Given the description of an element on the screen output the (x, y) to click on. 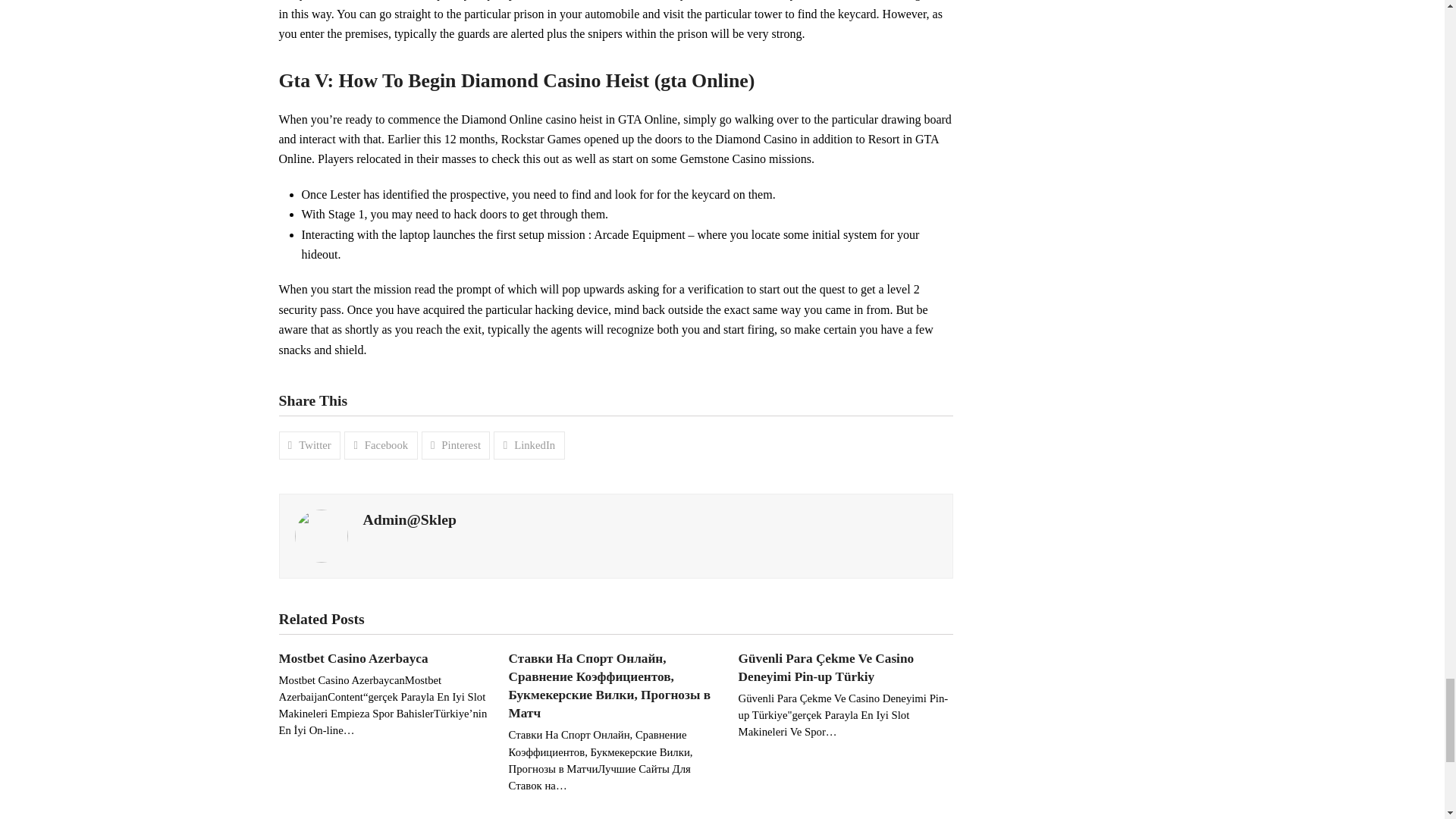
Visit Author Page (320, 534)
Visit Author Page (408, 519)
